Given the description of an element on the screen output the (x, y) to click on. 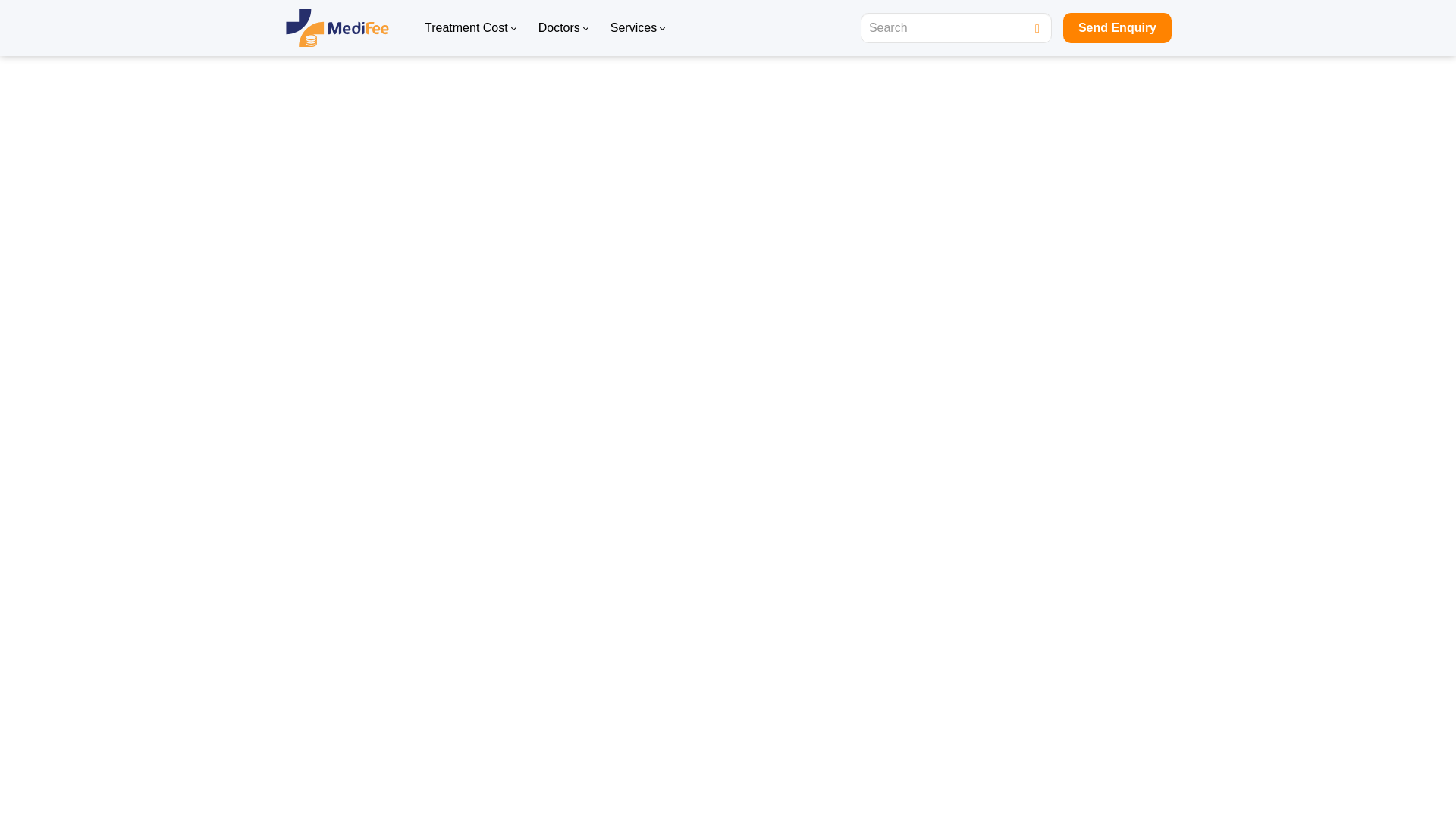
Doctors (562, 27)
Treatment Cost (470, 27)
Send Enquiry (1117, 28)
Services (636, 27)
